Given the description of an element on the screen output the (x, y) to click on. 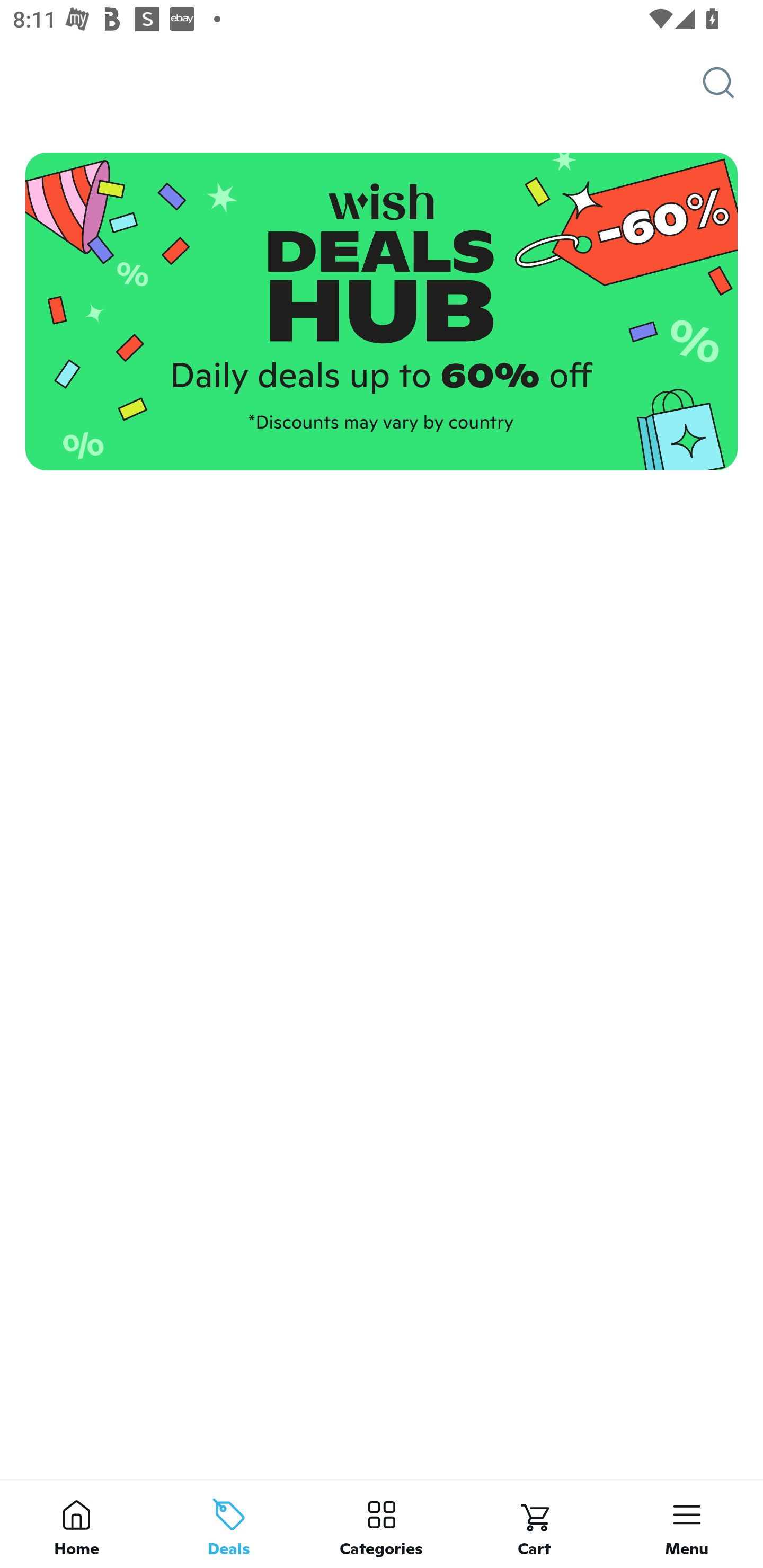
Search (732, 82)
Home (76, 1523)
Deals (228, 1523)
Categories (381, 1523)
Cart (533, 1523)
Menu (686, 1523)
